Given the description of an element on the screen output the (x, y) to click on. 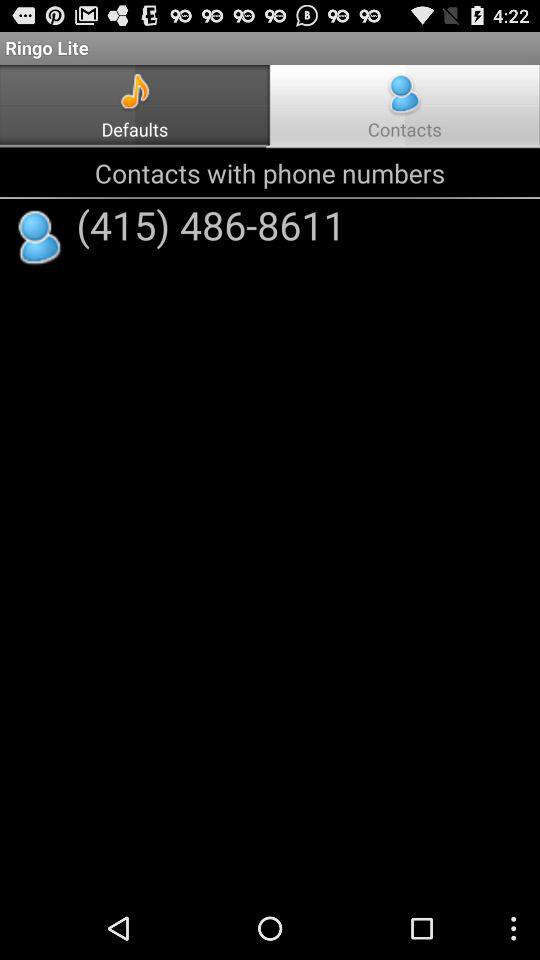
click the icon next to (415) 486-8611 item (39, 238)
